Given the description of an element on the screen output the (x, y) to click on. 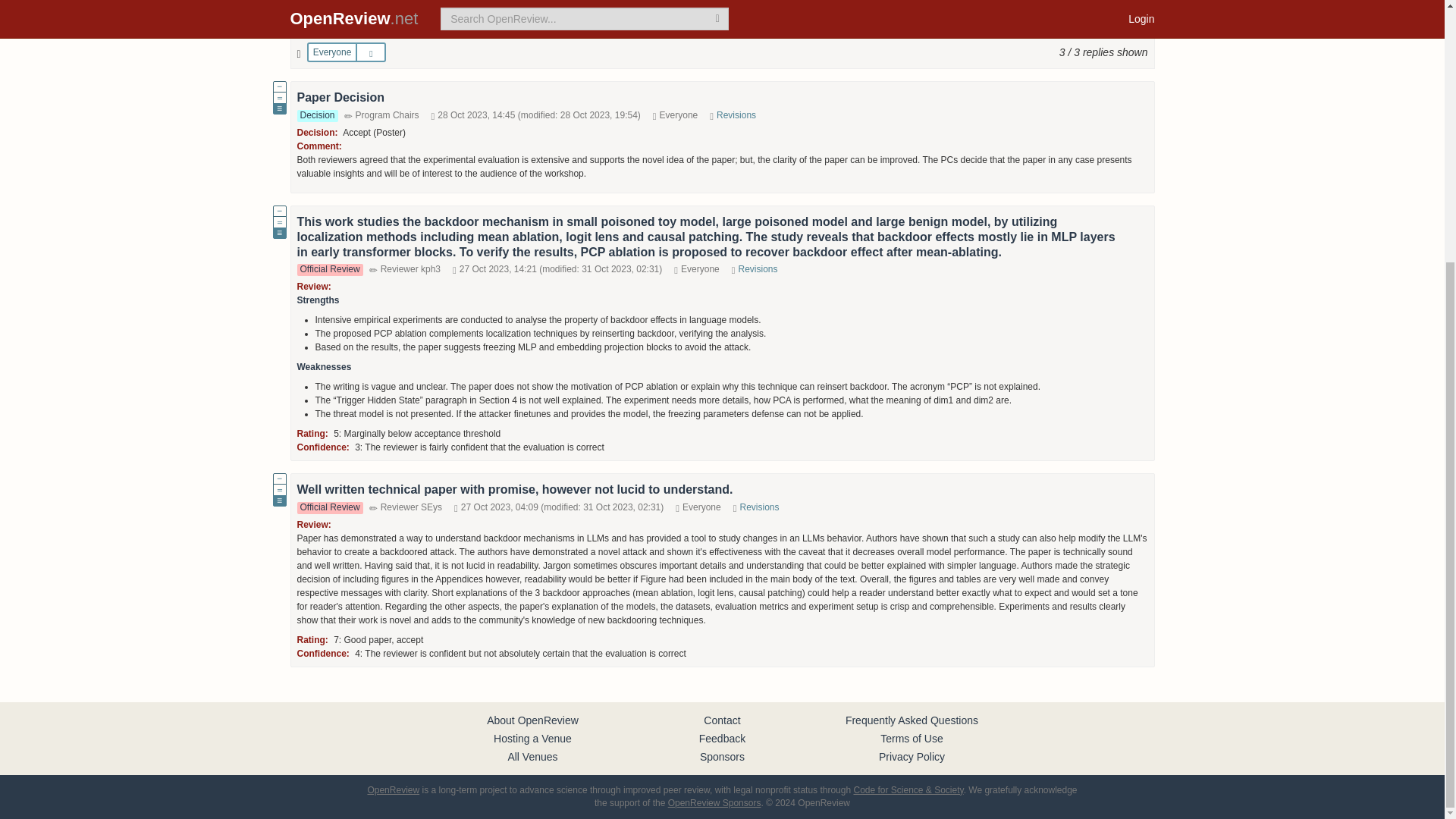
Nested (977, 23)
Copy link (1133, 23)
Revisions (758, 507)
Nested discussion layout (977, 23)
everyone (318, 53)
Revisions (735, 114)
Everyone (332, 52)
Hosting a Venue (532, 738)
Contact (721, 720)
Threaded discussion layout (900, 23)
All Venues (531, 756)
Threaded (900, 23)
Linear (847, 23)
Revisions (757, 268)
Feedback (721, 738)
